Given the description of an element on the screen output the (x, y) to click on. 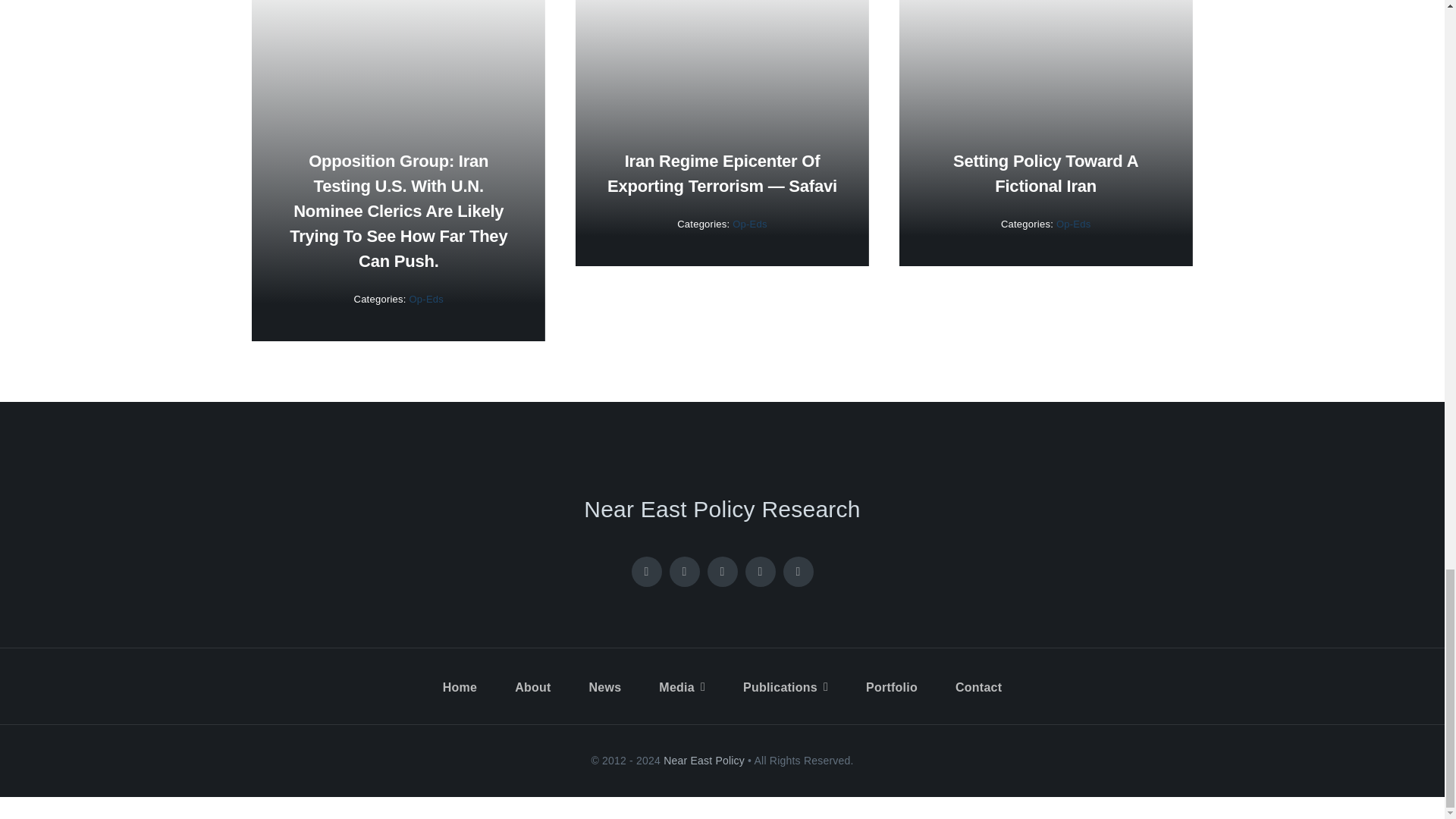
Pinterest (759, 571)
Instagram (721, 571)
X (683, 571)
Telegram (797, 571)
Facebook (645, 571)
